Given the description of an element on the screen output the (x, y) to click on. 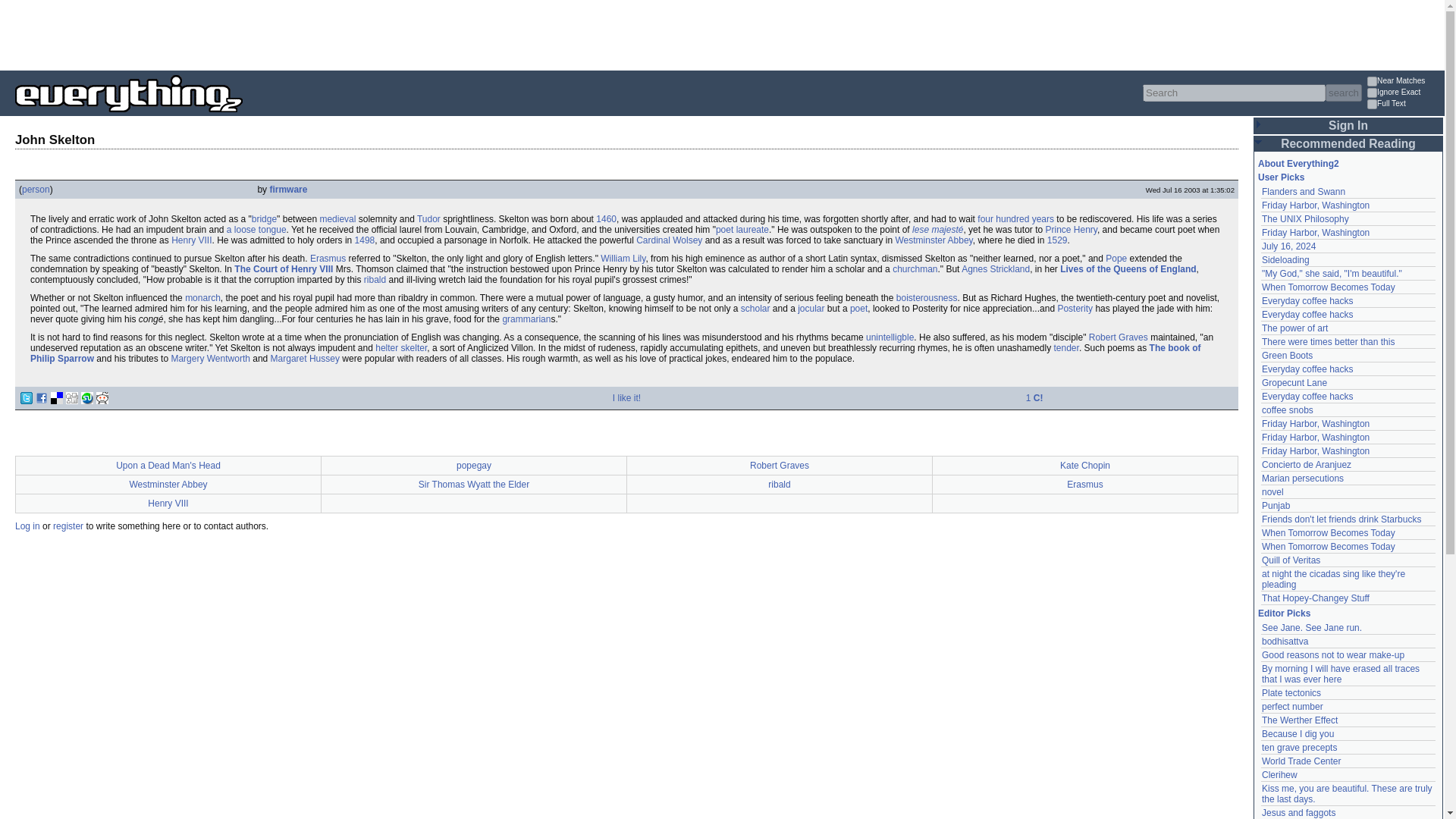
monarch (202, 297)
poet laureate (742, 229)
search (1342, 92)
1498 (365, 240)
tender (1066, 347)
Pope (1115, 258)
boisterousness (927, 297)
grammarian (526, 318)
William Lily (622, 258)
bridge (263, 218)
a loose tongue (256, 229)
unintelligble (890, 337)
search (1342, 92)
Henry VIII (191, 240)
The book of Philip Sparrow (615, 353)
